Given the description of an element on the screen output the (x, y) to click on. 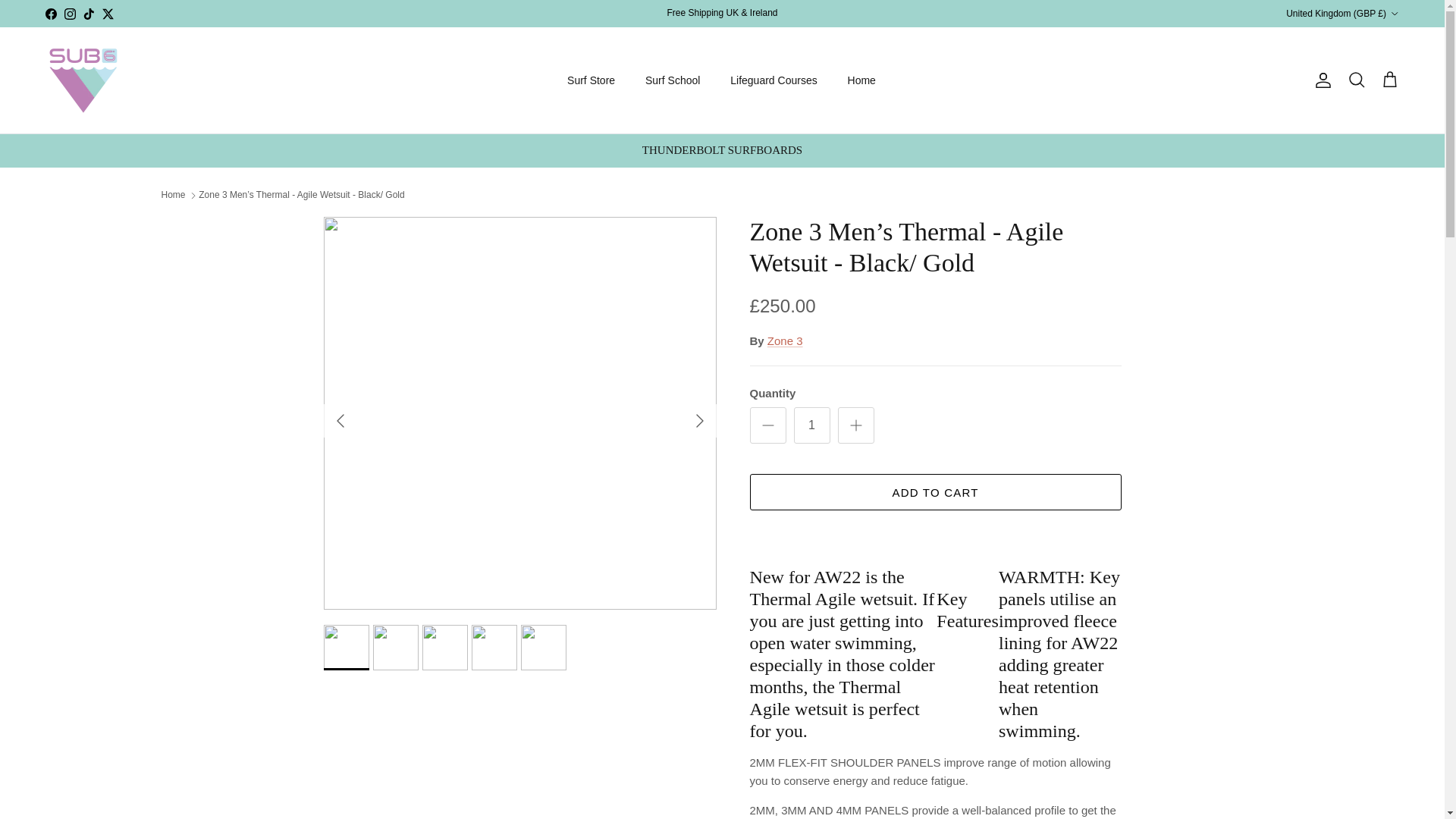
Facebook (50, 12)
TikTok (88, 12)
Home (861, 80)
Account (1319, 80)
Cart (1389, 80)
1 (811, 425)
SUB6 Surf Store - Surf School - Lifeguard Courses (82, 79)
SUB6 Surf Store - Surf School - Lifeguard Courses on Twitter (107, 12)
Instagram (69, 12)
